Given the description of an element on the screen output the (x, y) to click on. 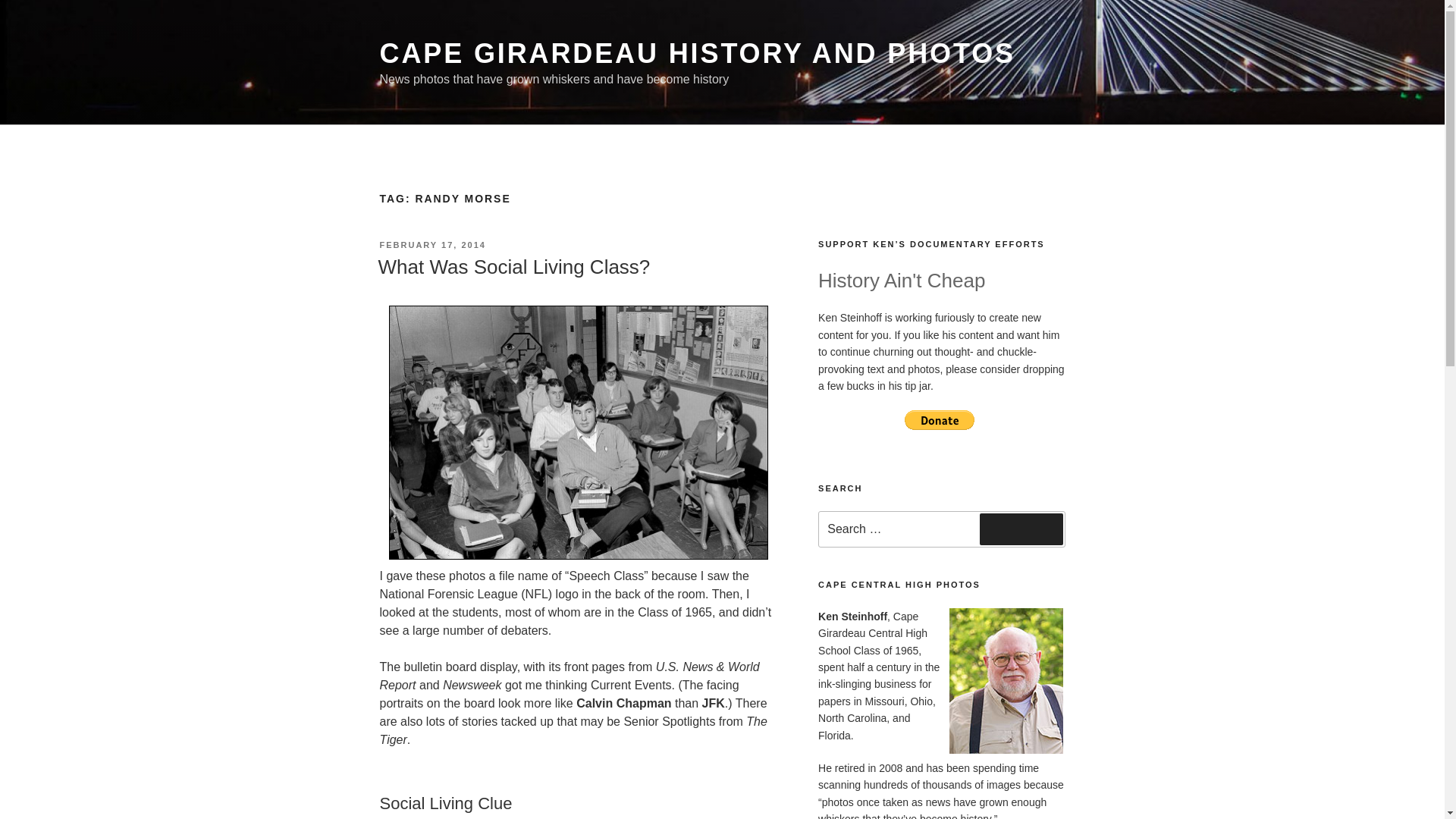
FEBRUARY 17, 2014 (431, 244)
Search (1020, 529)
What Was Social Living Class? (513, 266)
CAPE GIRARDEAU HISTORY AND PHOTOS (696, 52)
